Given the description of an element on the screen output the (x, y) to click on. 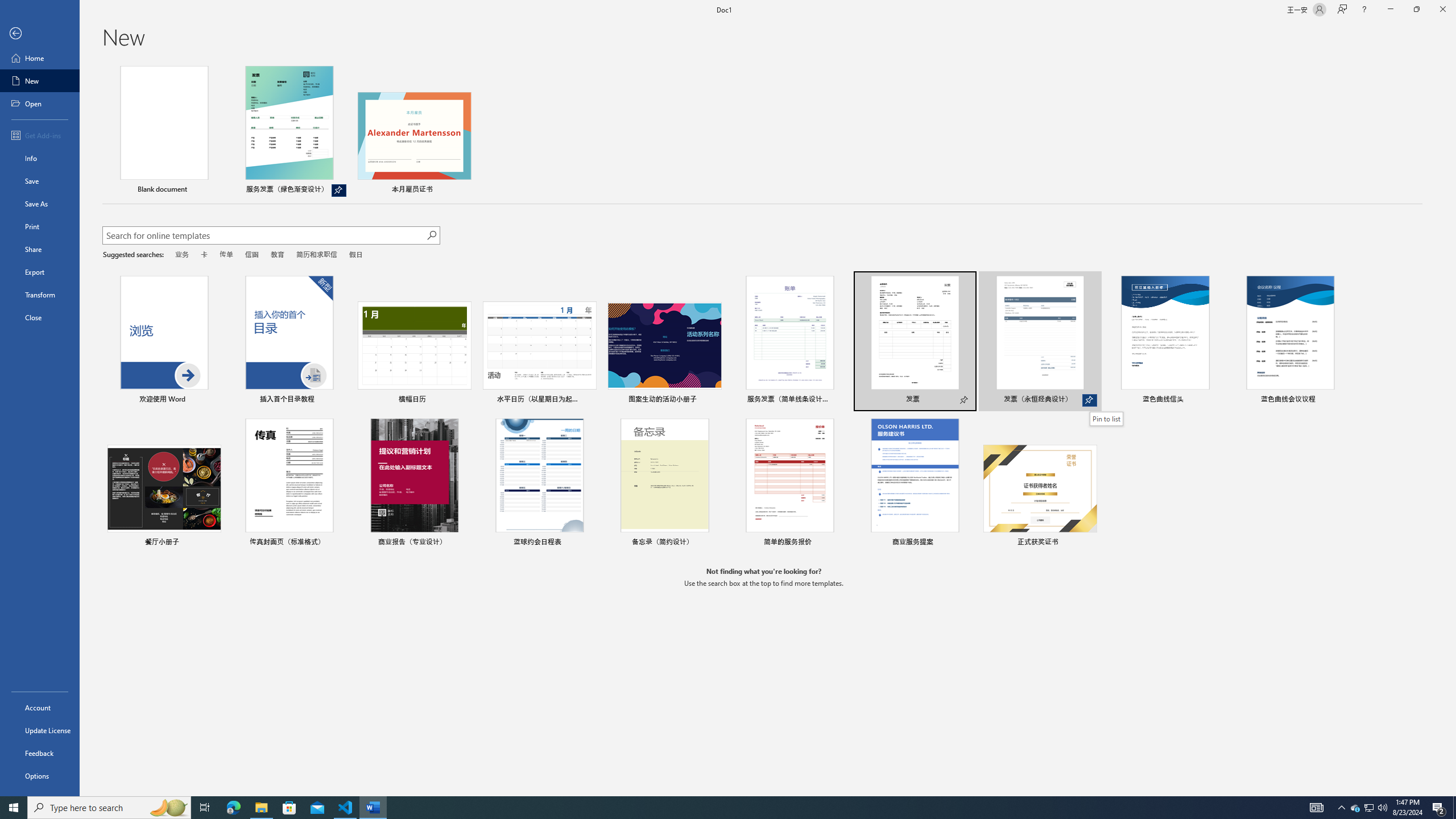
Transform (40, 294)
Home (40, 57)
Start searching (431, 235)
Share (40, 248)
Export (40, 271)
Options (40, 775)
Close (1442, 9)
Get Add-ins (40, 134)
